Given the description of an element on the screen output the (x, y) to click on. 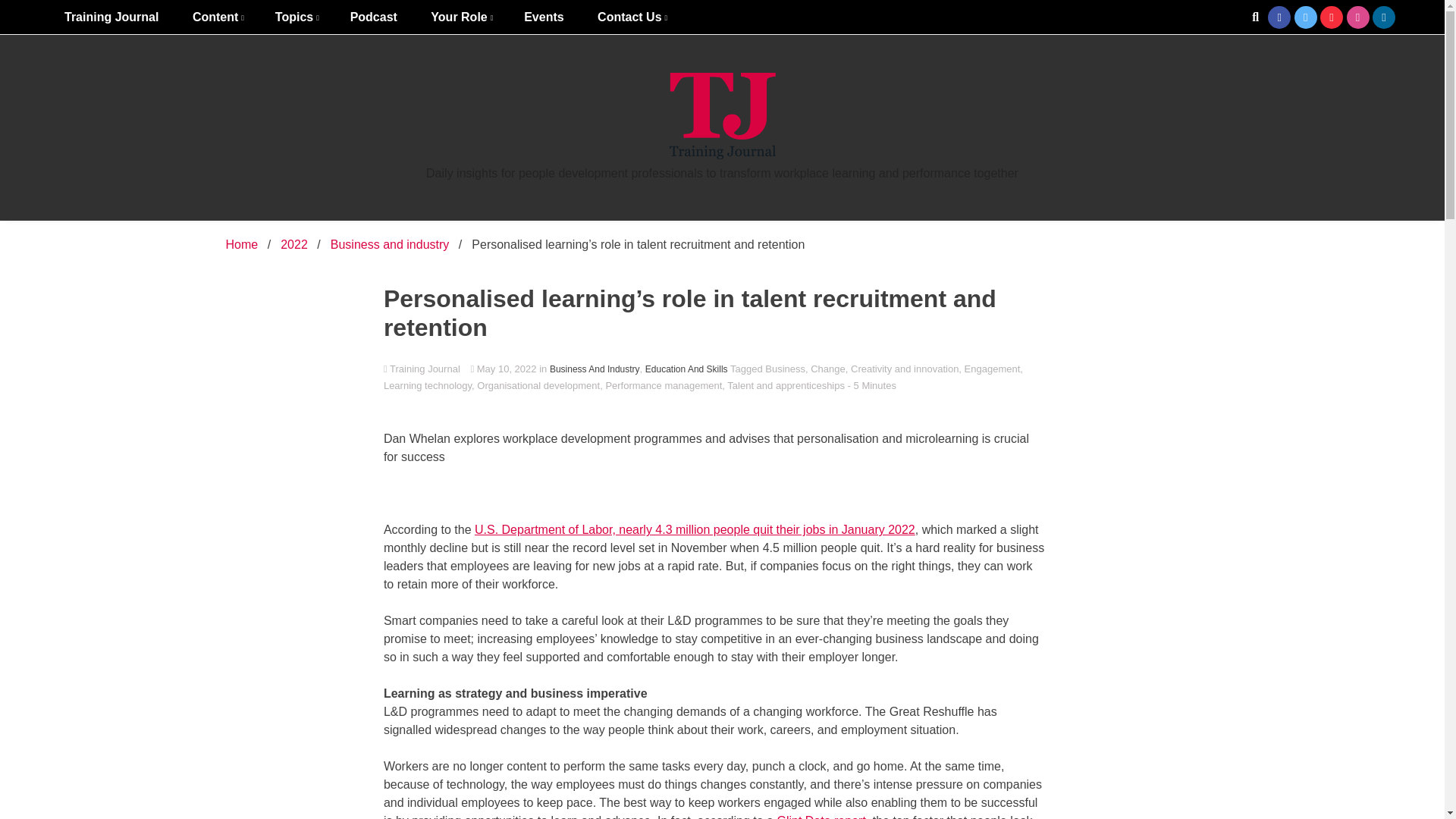
Your Role (459, 17)
Training Journal (111, 17)
Podcast (373, 17)
Events (543, 17)
Content (216, 17)
Estimated Reading Time of Article (871, 385)
Topics (295, 17)
